Given the description of an element on the screen output the (x, y) to click on. 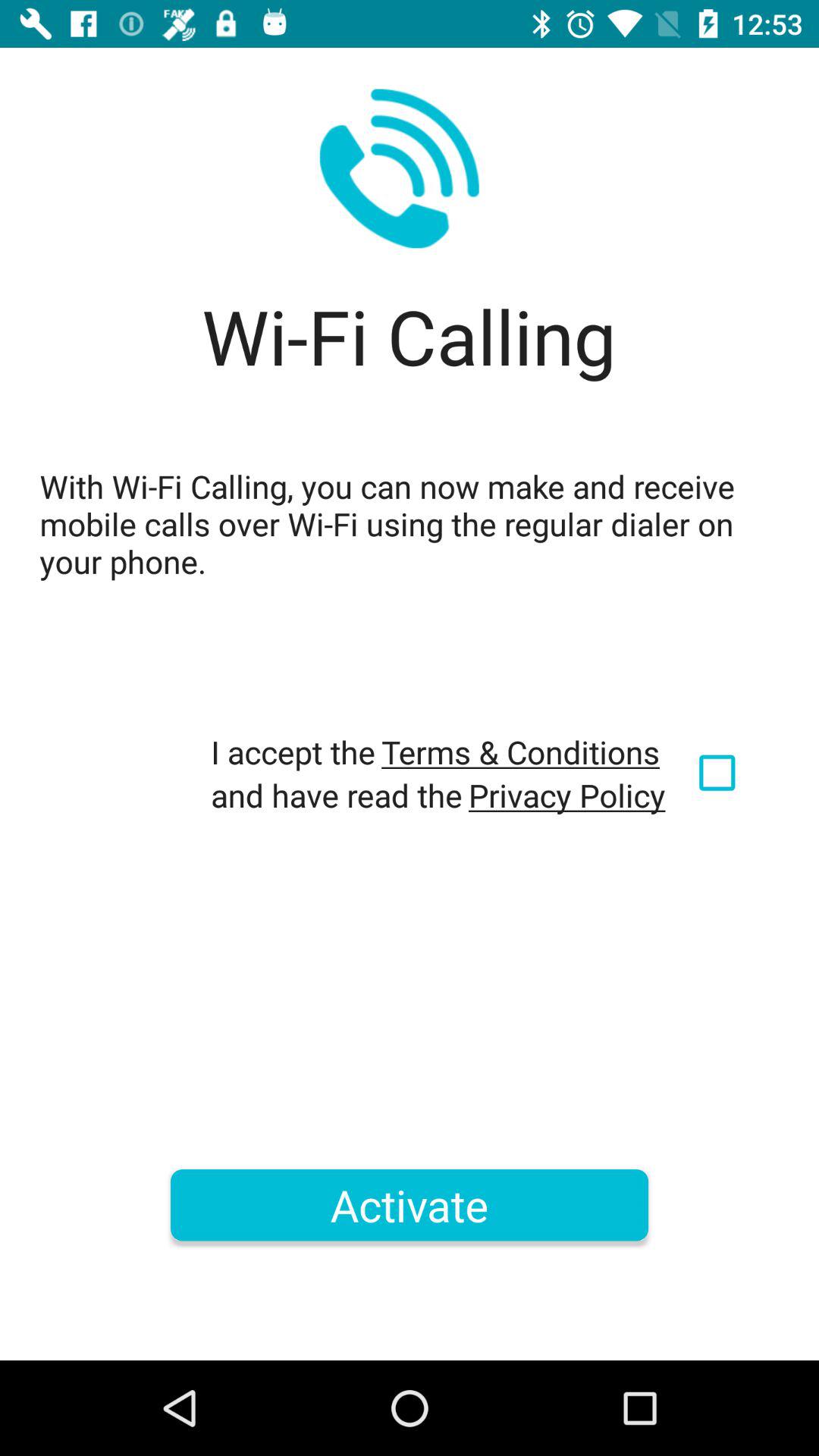
scroll to privacy policy item (566, 794)
